Given the description of an element on the screen output the (x, y) to click on. 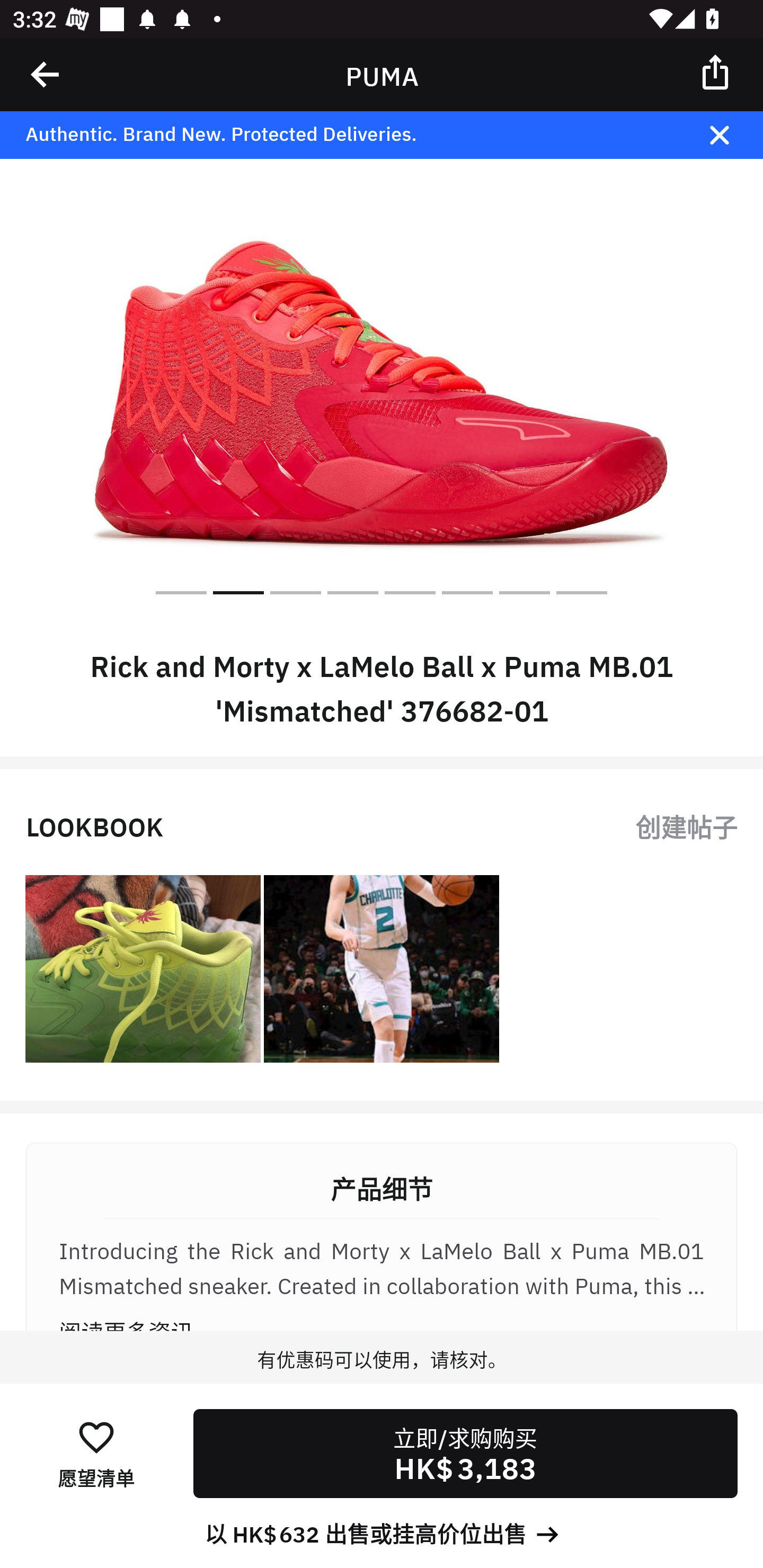
 (46, 74)
 (716, 70)
Authentic. Brand New. Protected Deliveries. (350, 134)
 (732, 134)
创建帖子 (685, 825)
有优惠码可以使用，请核对。 (381, 1377)
立即/求购购买 HK$ 3,183 (465, 1453)
󰋕 (95, 1435)
以 HK$ 632 出售或挂高价位出售 (381, 1532)
